Given the description of an element on the screen output the (x, y) to click on. 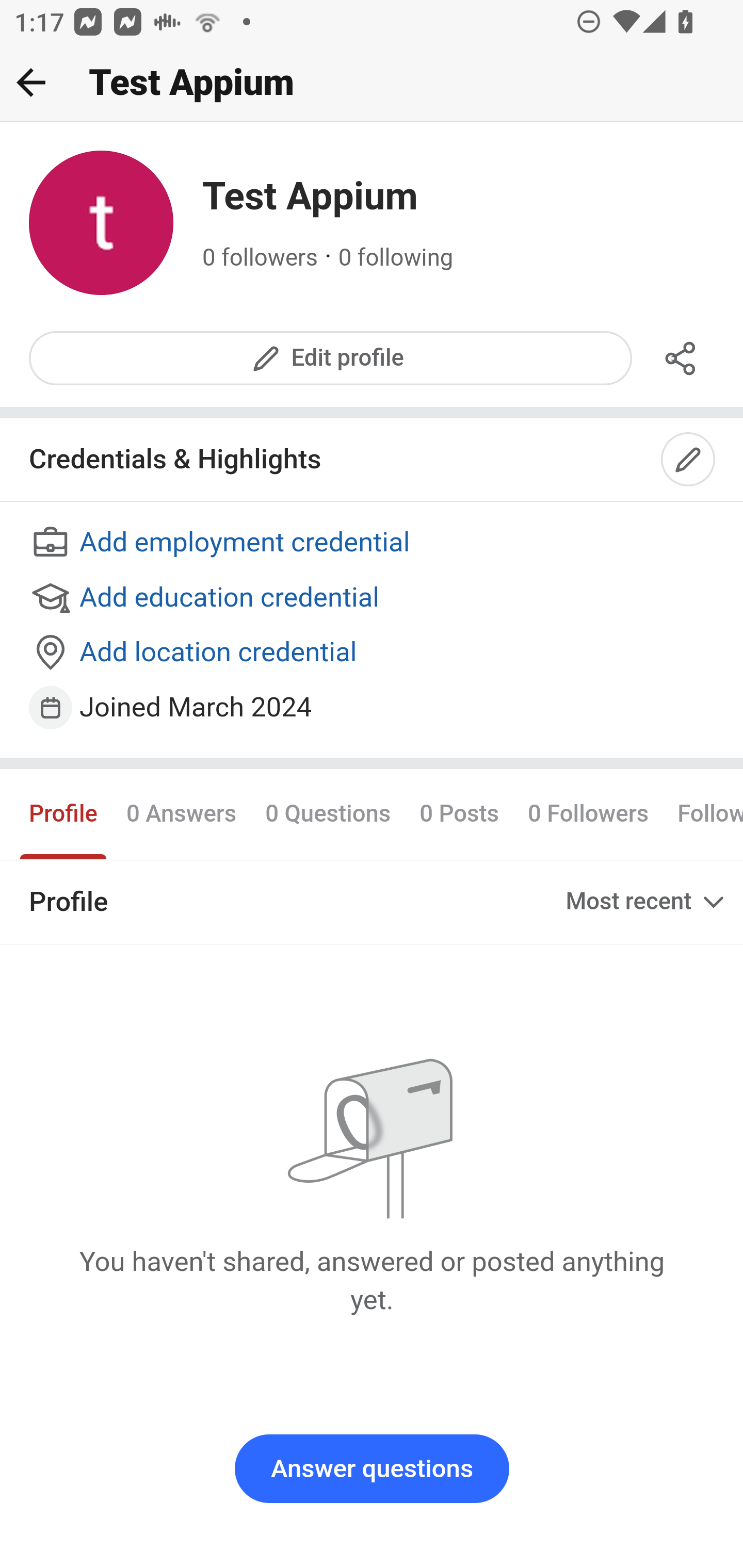
Back (30, 82)
0 followers (260, 257)
0 following (395, 257)
Share (681, 358)
Edit profile (330, 357)
Edit credentials (688, 459)
Add employment credential (372, 543)
Add education credential (372, 598)
Add location credential (372, 653)
Profile (63, 813)
0 Answers (180, 813)
0 Questions (327, 813)
0 Posts (459, 813)
0 Followers (588, 813)
Most recent (647, 901)
Answer questions (371, 1469)
